Given the description of an element on the screen output the (x, y) to click on. 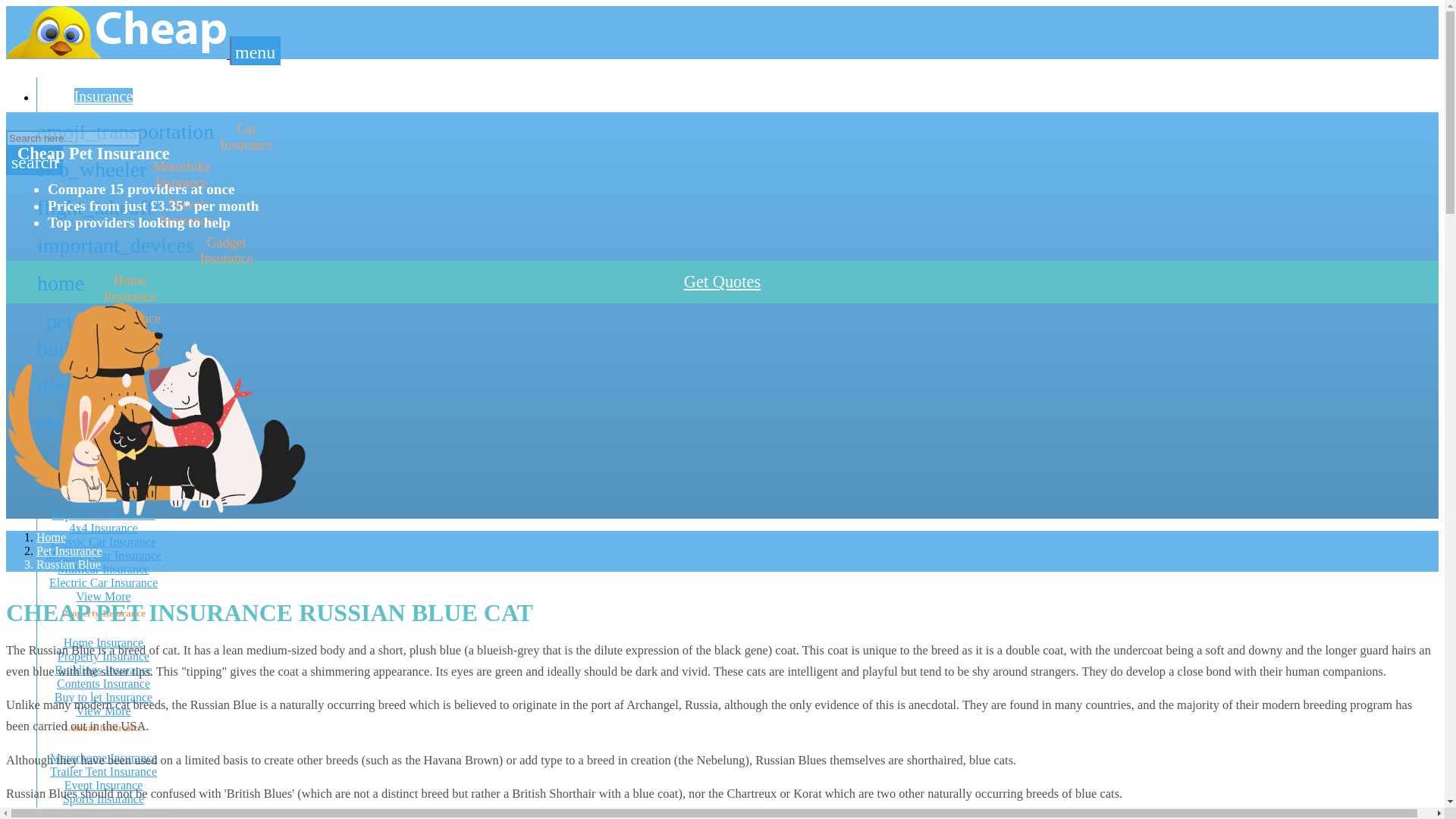
4x4 Insurance (102, 527)
Motorhome Insurance (103, 757)
Sports Insurance (103, 798)
Home Insurance (103, 288)
Classic Car Insurance (103, 642)
View More (103, 541)
Electric Car Insurance (103, 710)
Buy to let Insurance (103, 582)
